Given the description of an element on the screen output the (x, y) to click on. 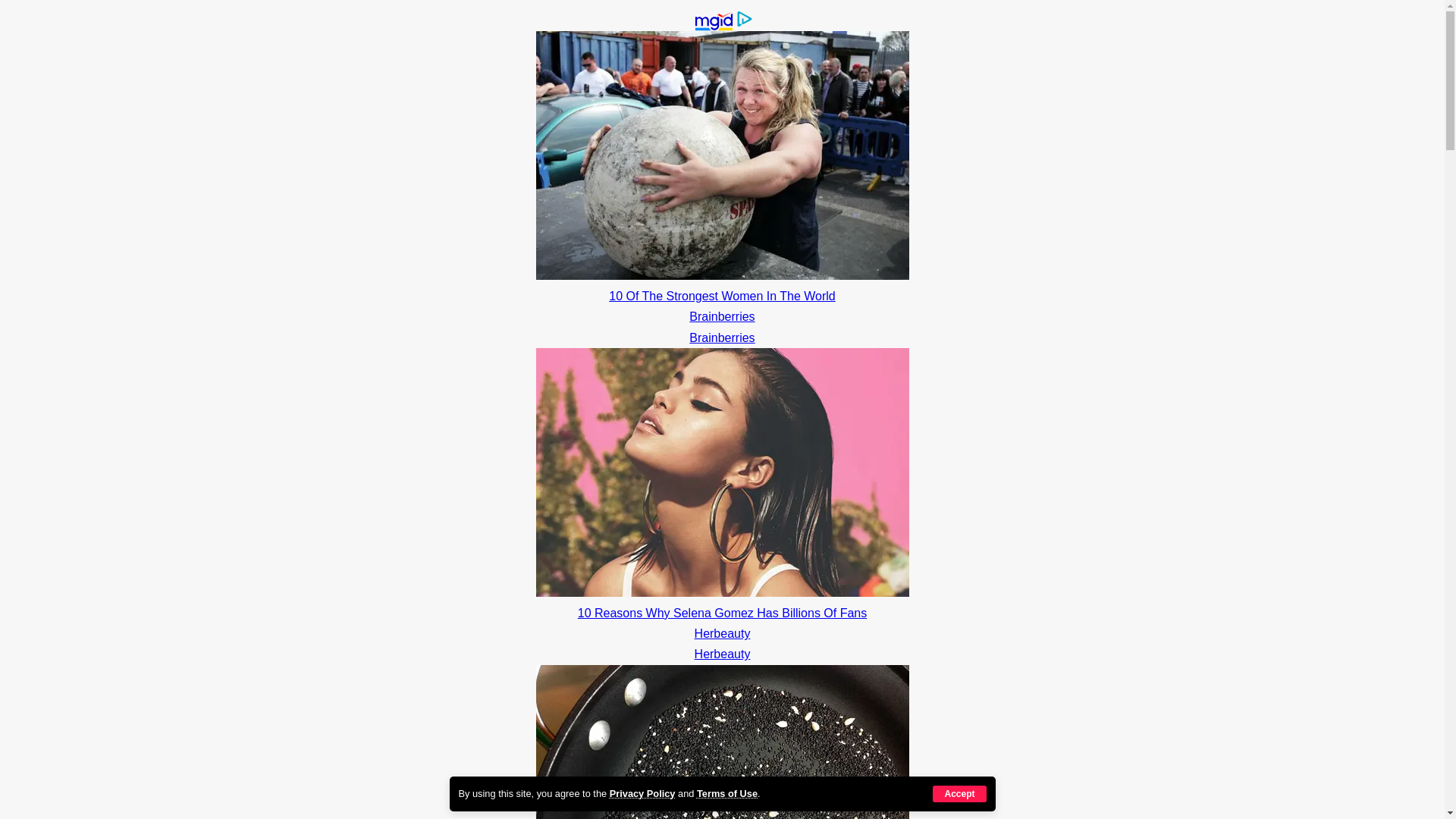
Terms of Use (727, 793)
Accept (959, 793)
Privacy Policy (642, 793)
